Given the description of an element on the screen output the (x, y) to click on. 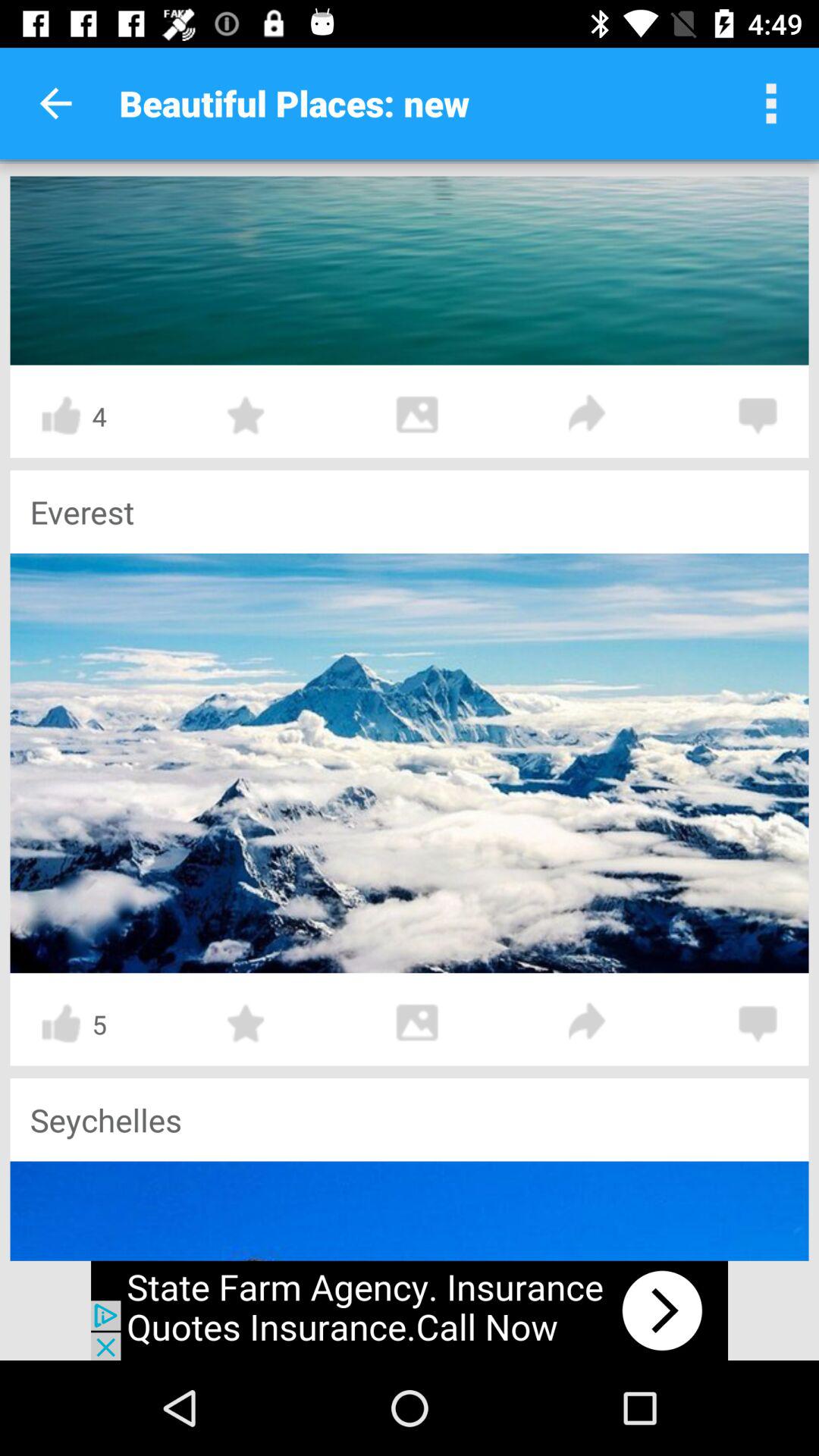
photo (417, 1023)
